Given the description of an element on the screen output the (x, y) to click on. 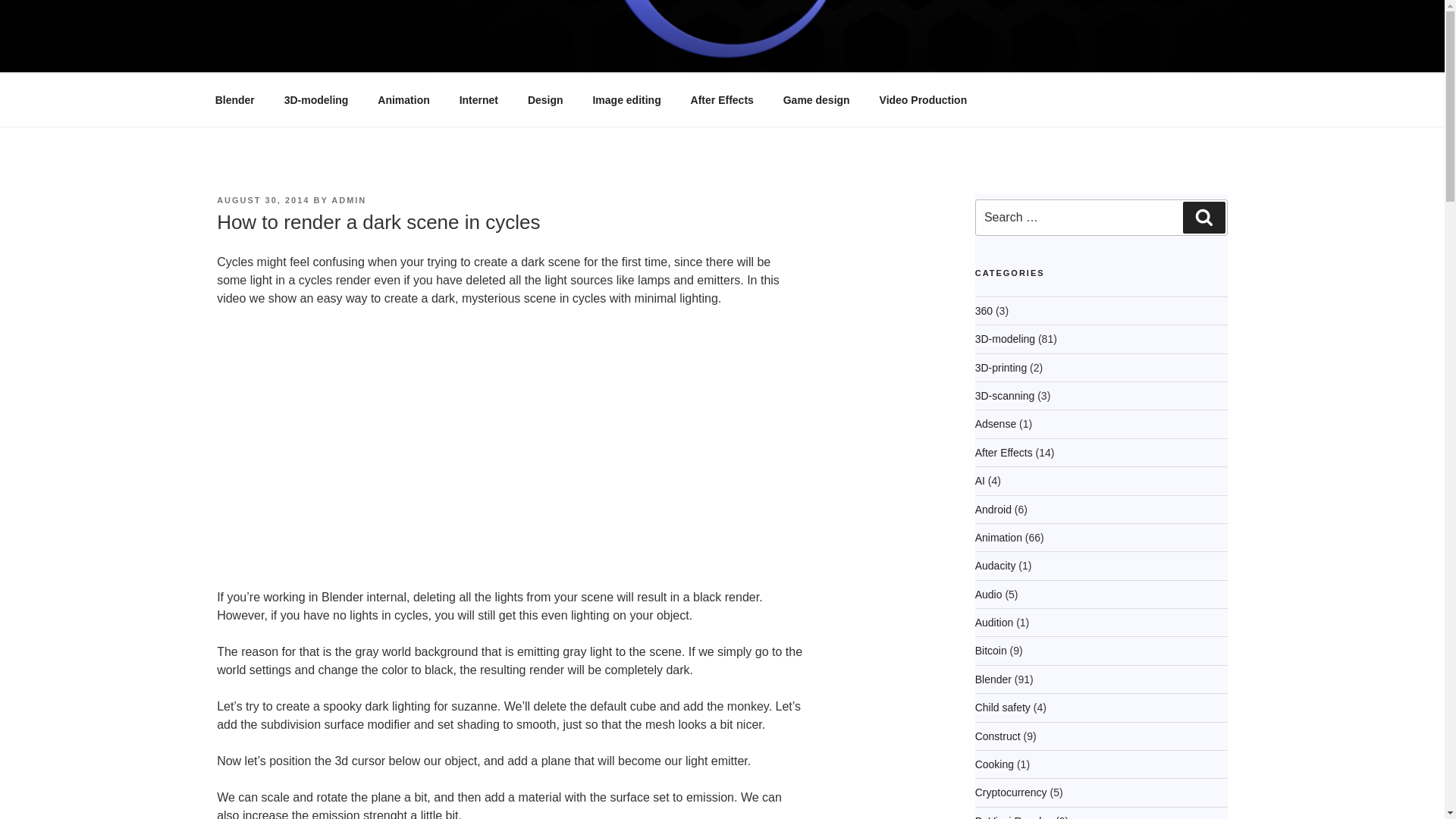
Animation (998, 537)
After Effects (1003, 452)
Audio (989, 594)
Design (544, 99)
ONE MINUTE VIDEO TUTORIALS (458, 52)
360 (983, 310)
Child safety (1002, 707)
Bitcoin (991, 650)
Construct (997, 736)
3D-printing (1000, 367)
3D-modeling (1005, 338)
Video Production (922, 99)
Game design (816, 99)
Blender (993, 679)
DaVinci Resolve (1013, 816)
